Given the description of an element on the screen output the (x, y) to click on. 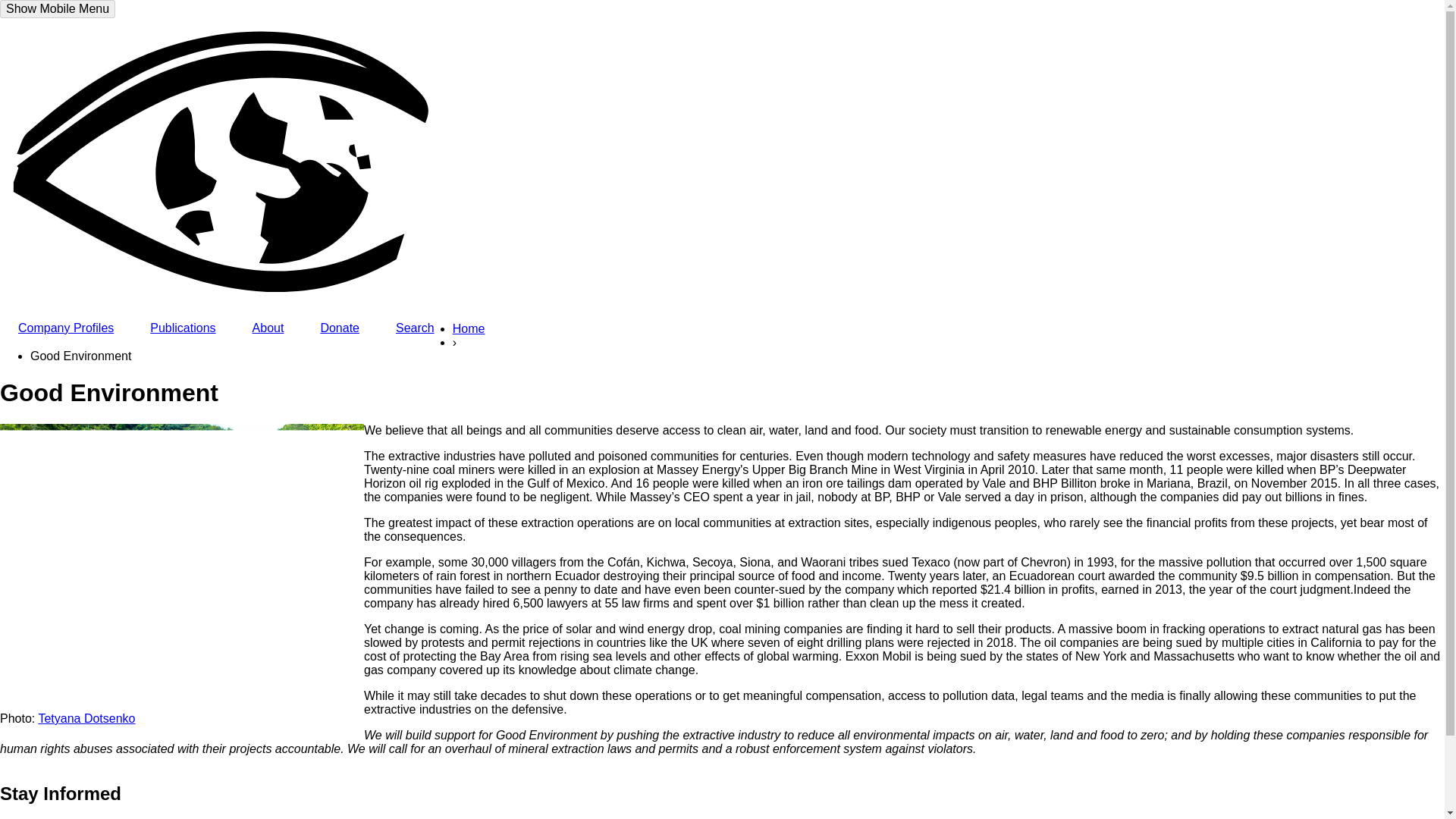
Show Mobile Menu (57, 9)
Publications (182, 328)
About (268, 328)
Home (468, 331)
Search (414, 328)
Company Profiles (66, 328)
Donate (339, 328)
Tetyana Dotsenko (86, 717)
